Given the description of an element on the screen output the (x, y) to click on. 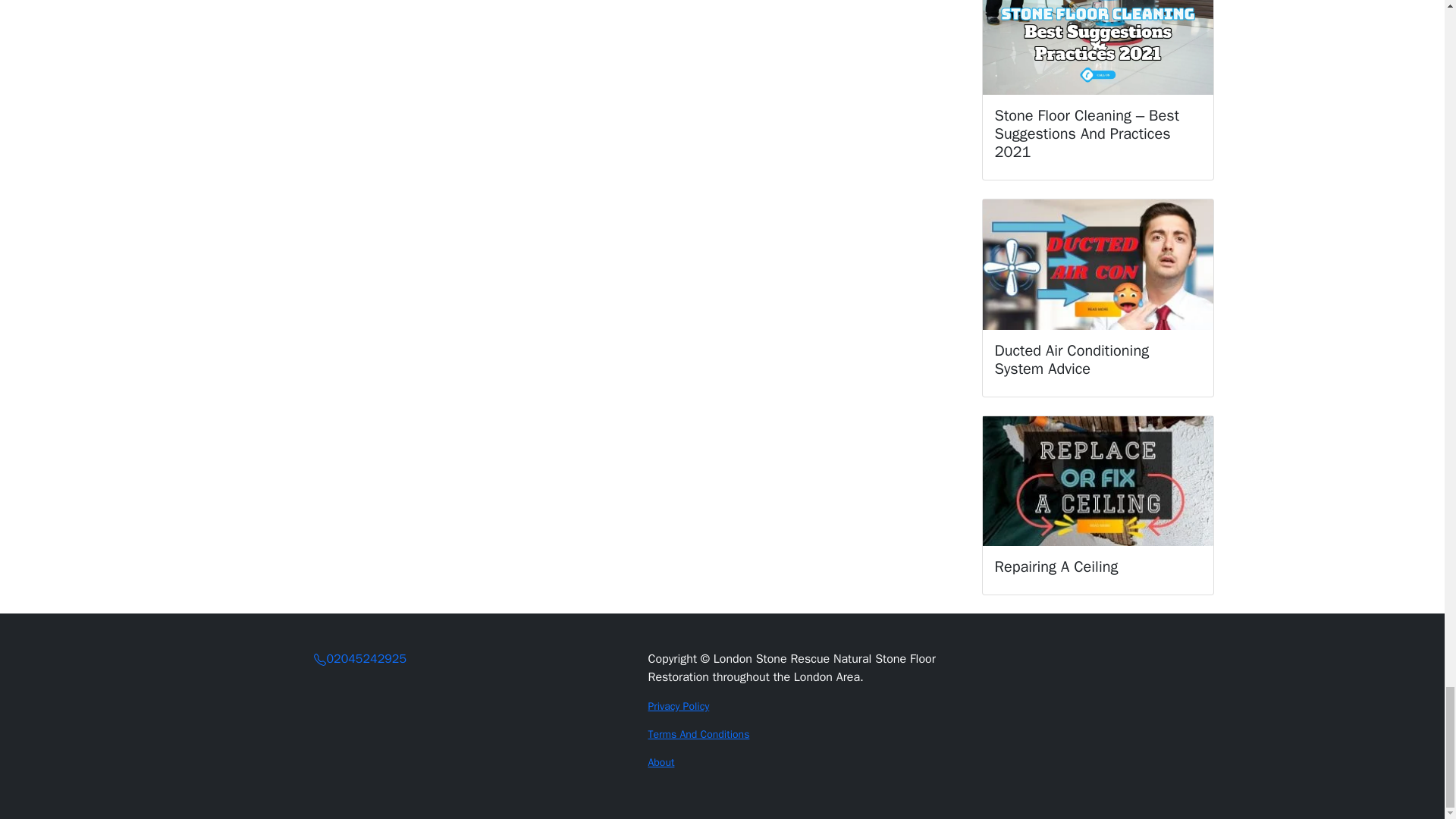
: (320, 659)
